Given the description of an element on the screen output the (x, y) to click on. 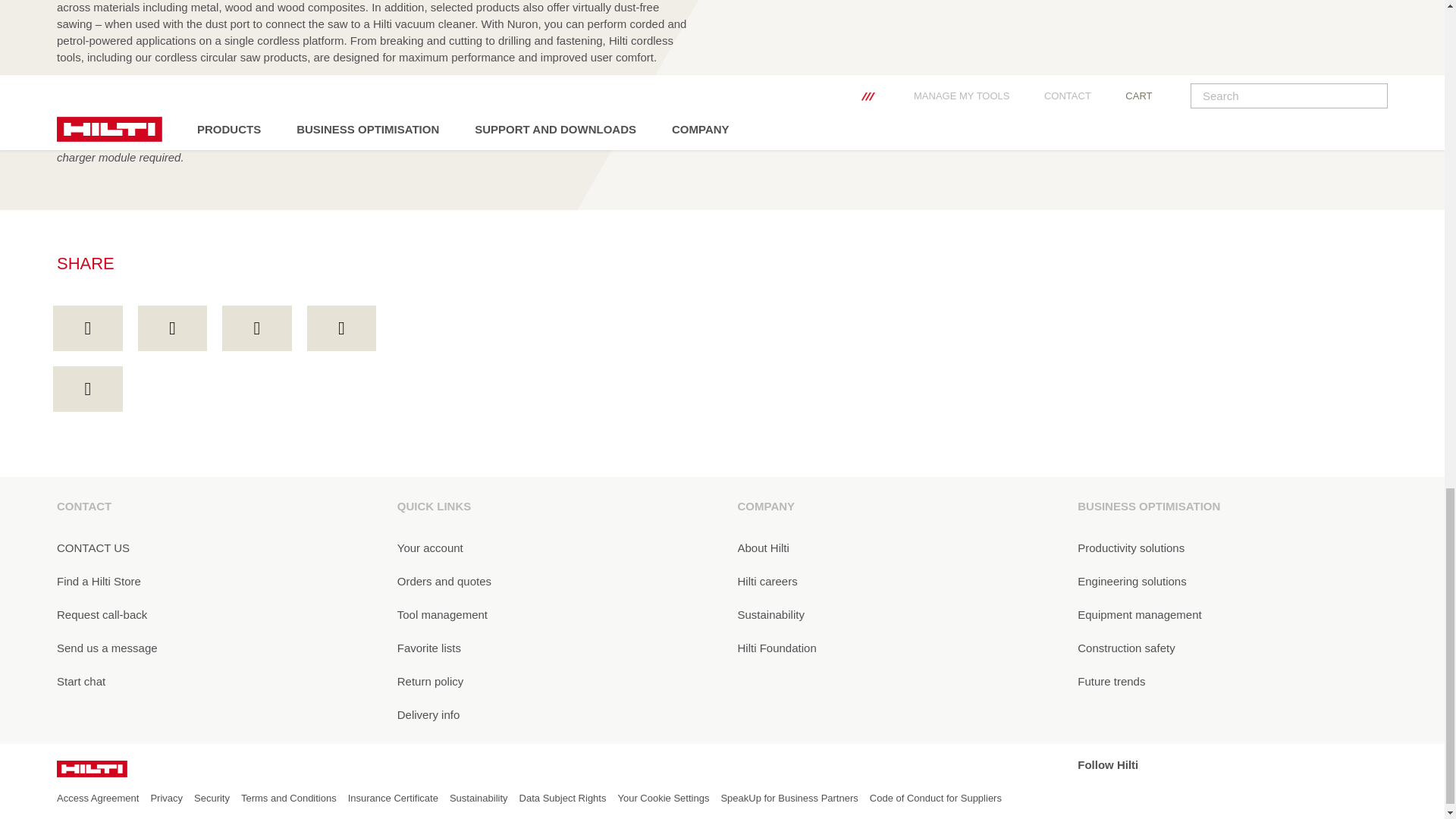
compatible batteries and chargers (206, 107)
reciprocating saws (324, 91)
jig saws (417, 91)
cordless tools (643, 91)
